Given the description of an element on the screen output the (x, y) to click on. 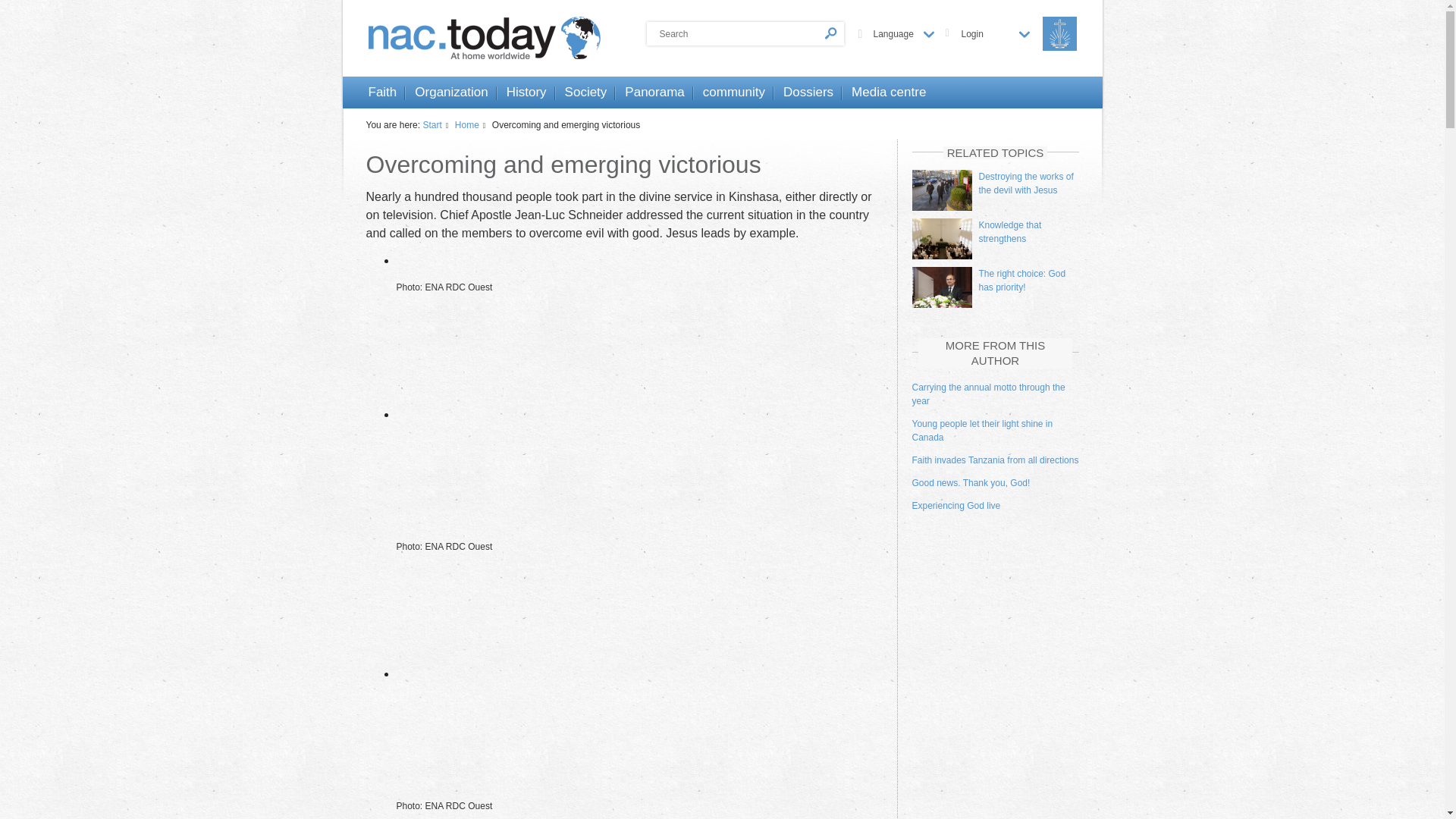
Home (471, 124)
Society (585, 92)
Search (745, 33)
Search (745, 33)
Start (436, 124)
History (526, 92)
Login (994, 33)
Organization (450, 92)
Gallery (653, 413)
Gallery (401, 259)
